Given the description of an element on the screen output the (x, y) to click on. 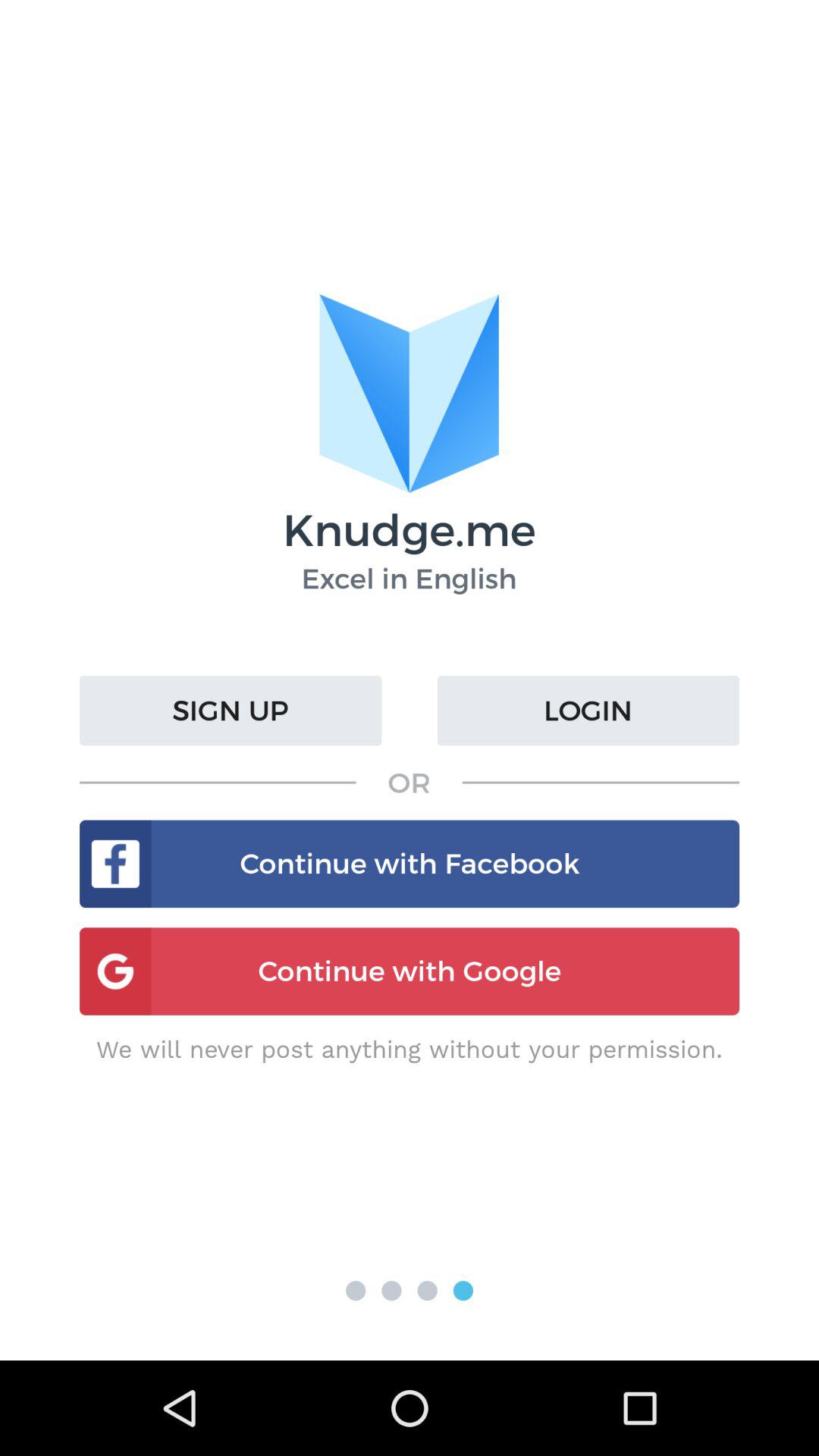
press the icon to the left of login icon (230, 710)
